Given the description of an element on the screen output the (x, y) to click on. 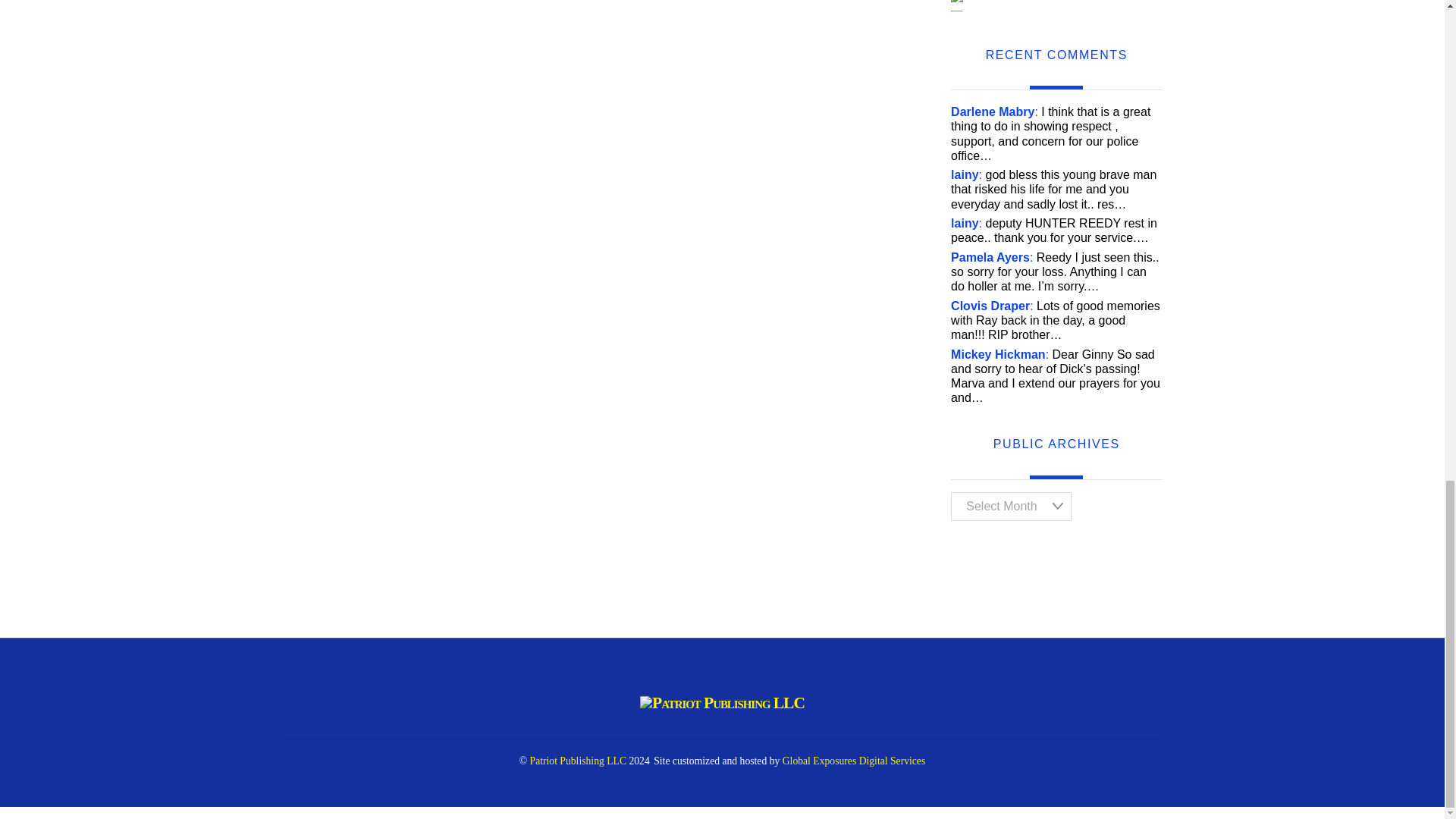
Darlene Mabry: (994, 111)
lainy: (965, 174)
Mickey Hickman: (999, 354)
Patriot Publishing LLC (577, 760)
Global Exposures Digital Services (854, 760)
Patriot Publishing LLC (722, 702)
lainy: (965, 223)
Clovis Draper: (991, 305)
Pamela Ayers: (991, 256)
